Given the description of an element on the screen output the (x, y) to click on. 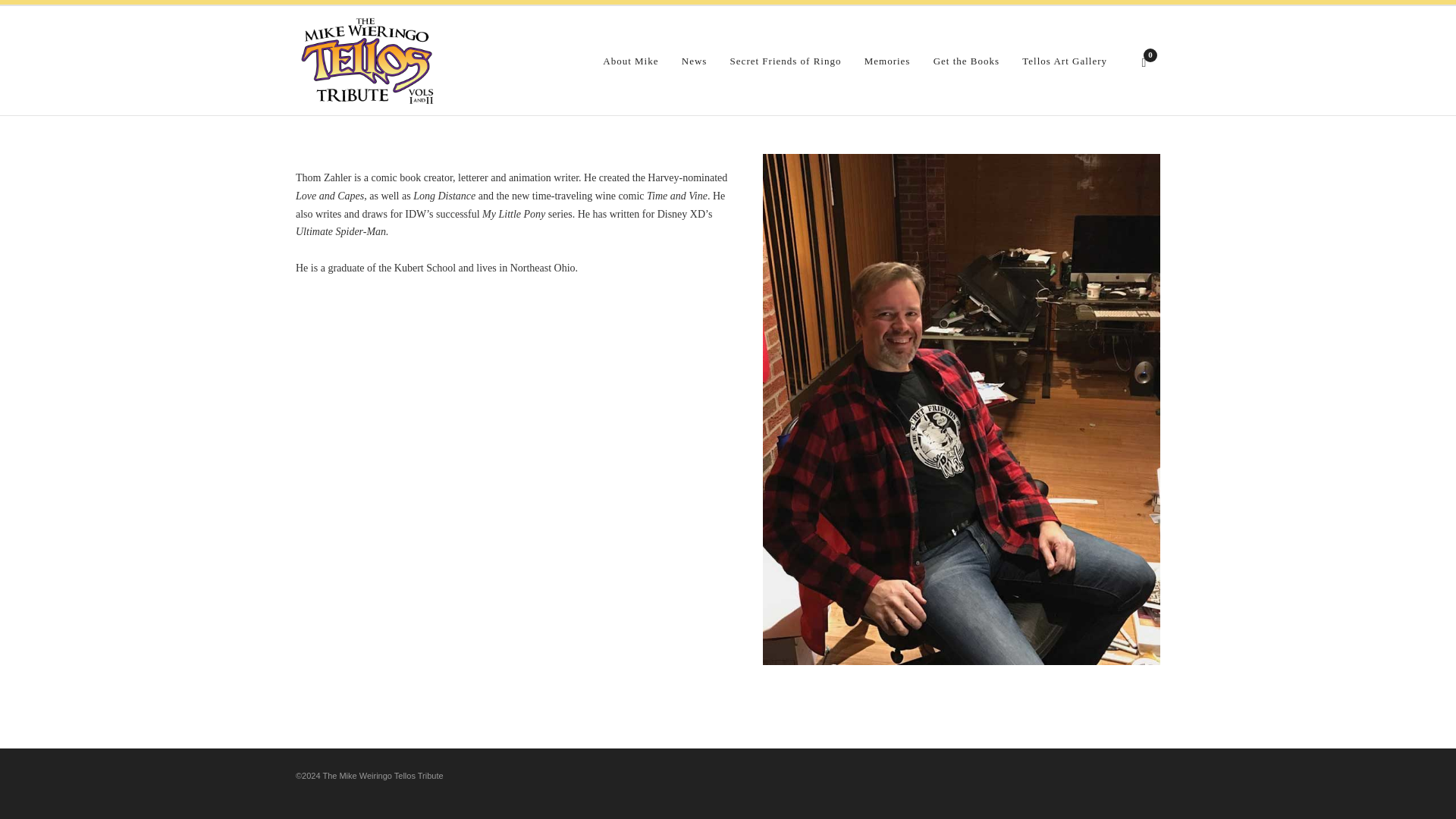
Tellos Art Gallery (1064, 60)
View your shopping cart (1144, 60)
Secret Friends of Ringo (786, 60)
0 (1144, 60)
